Given the description of an element on the screen output the (x, y) to click on. 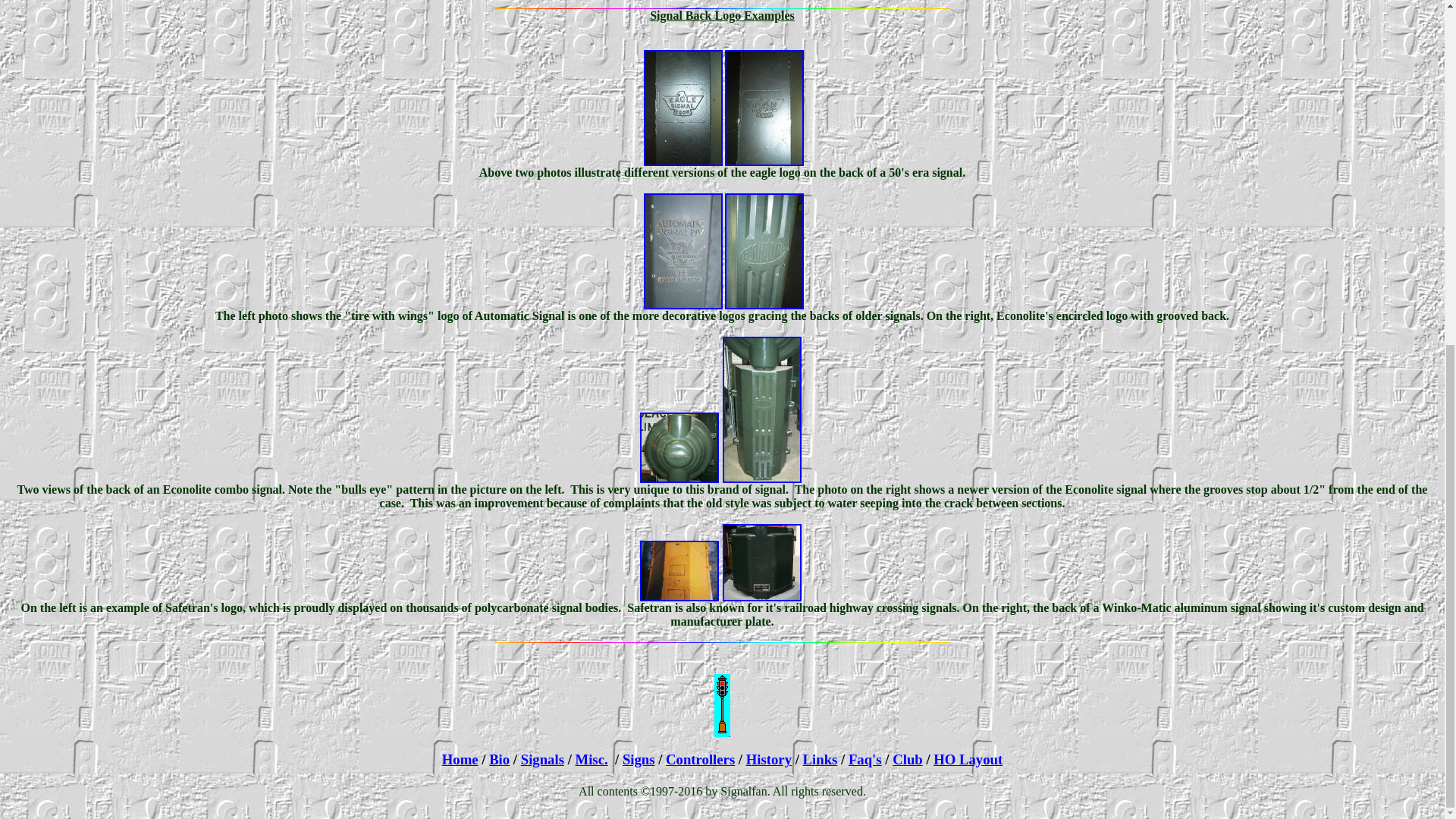
History (768, 759)
Home (460, 759)
Controllers (700, 759)
Club (907, 759)
Misc. (591, 759)
Links (820, 759)
Signs (639, 759)
HO Layout (968, 759)
Faq's (865, 759)
Signals (542, 759)
